Given the description of an element on the screen output the (x, y) to click on. 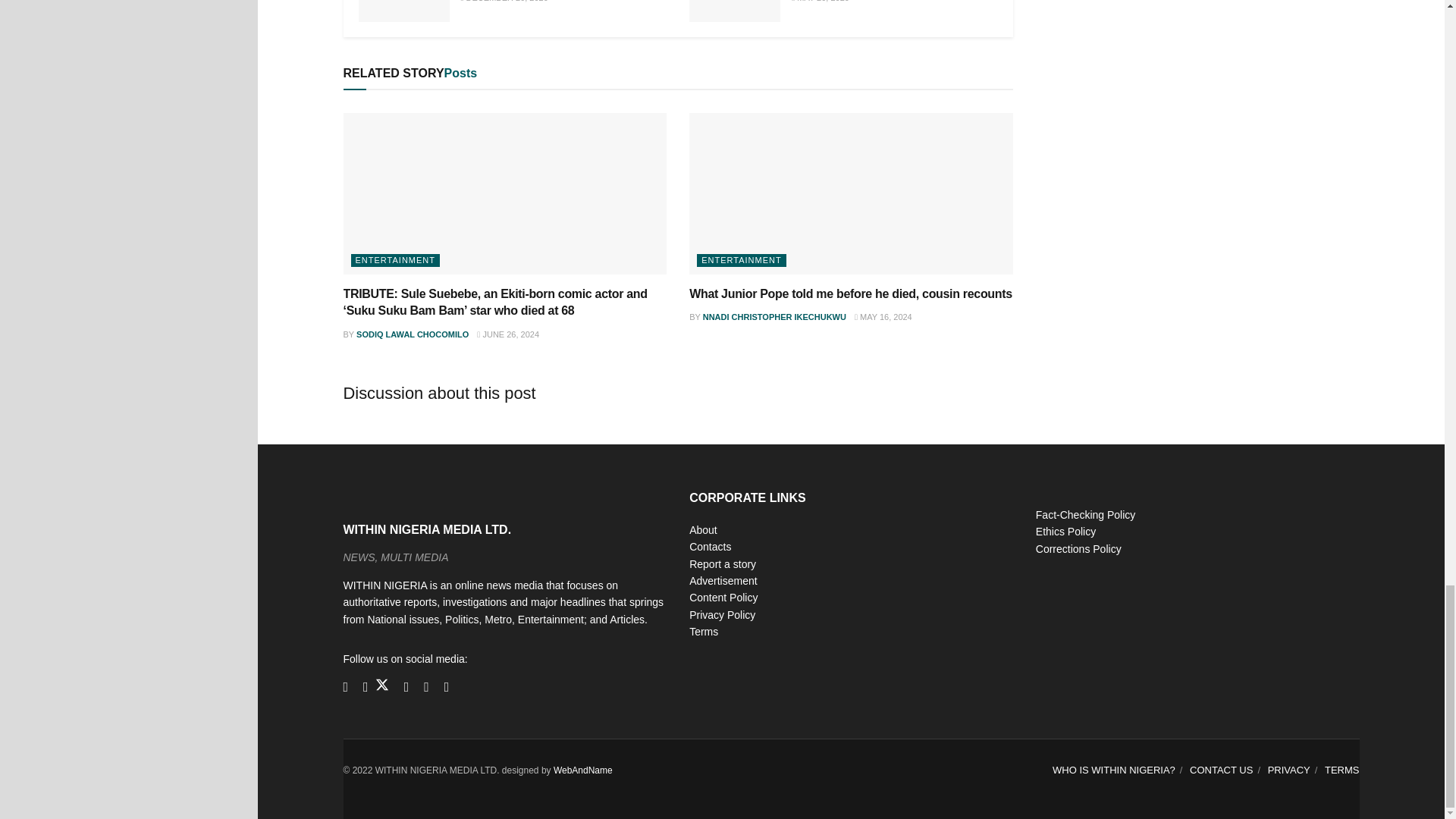
WEB AND NAME (582, 769)
